Given the description of an element on the screen output the (x, y) to click on. 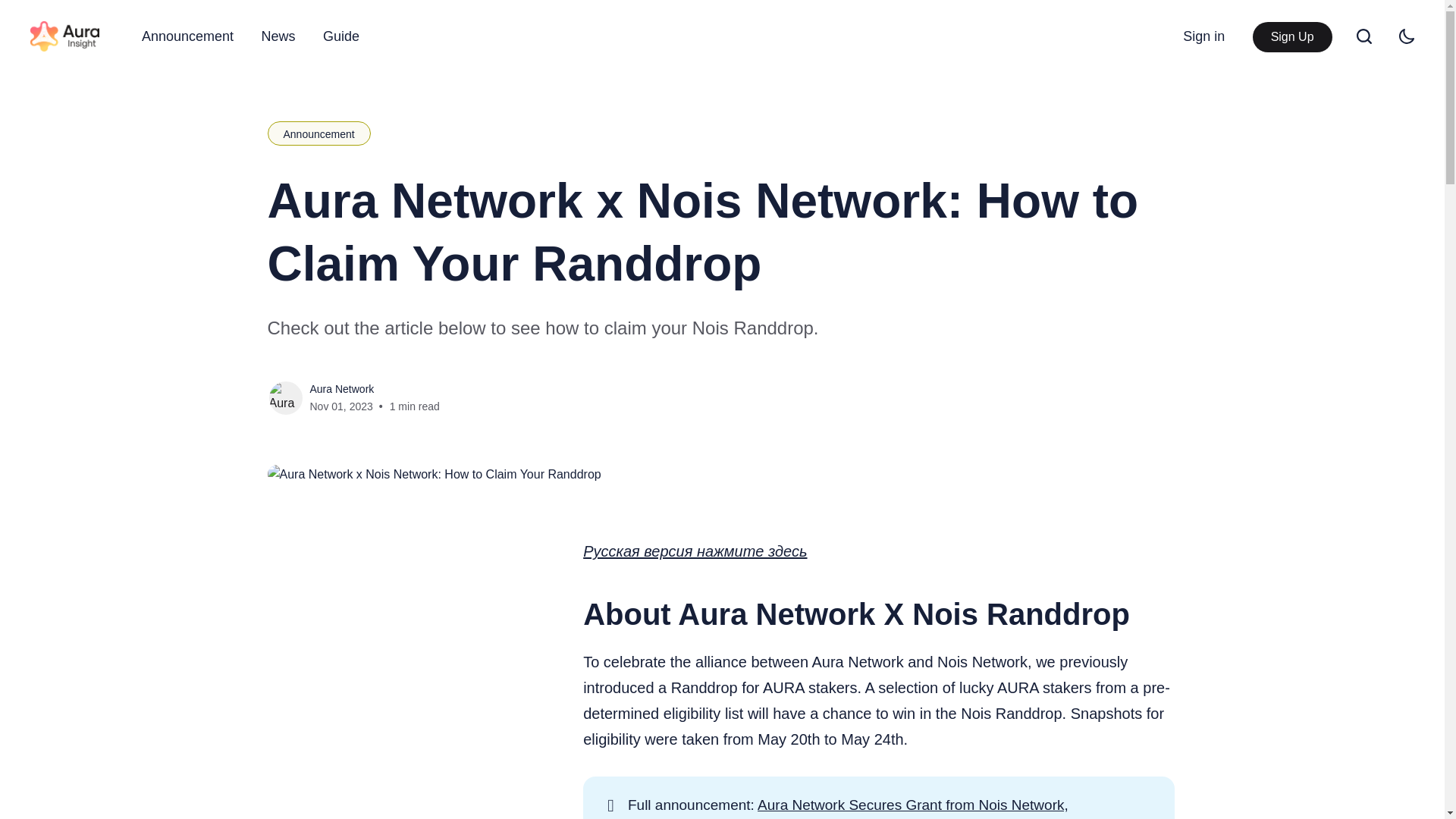
Announcement (186, 36)
Sign Up (1292, 37)
Sign in (1203, 36)
Aura Network (341, 388)
Announcement (317, 133)
